Given the description of an element on the screen output the (x, y) to click on. 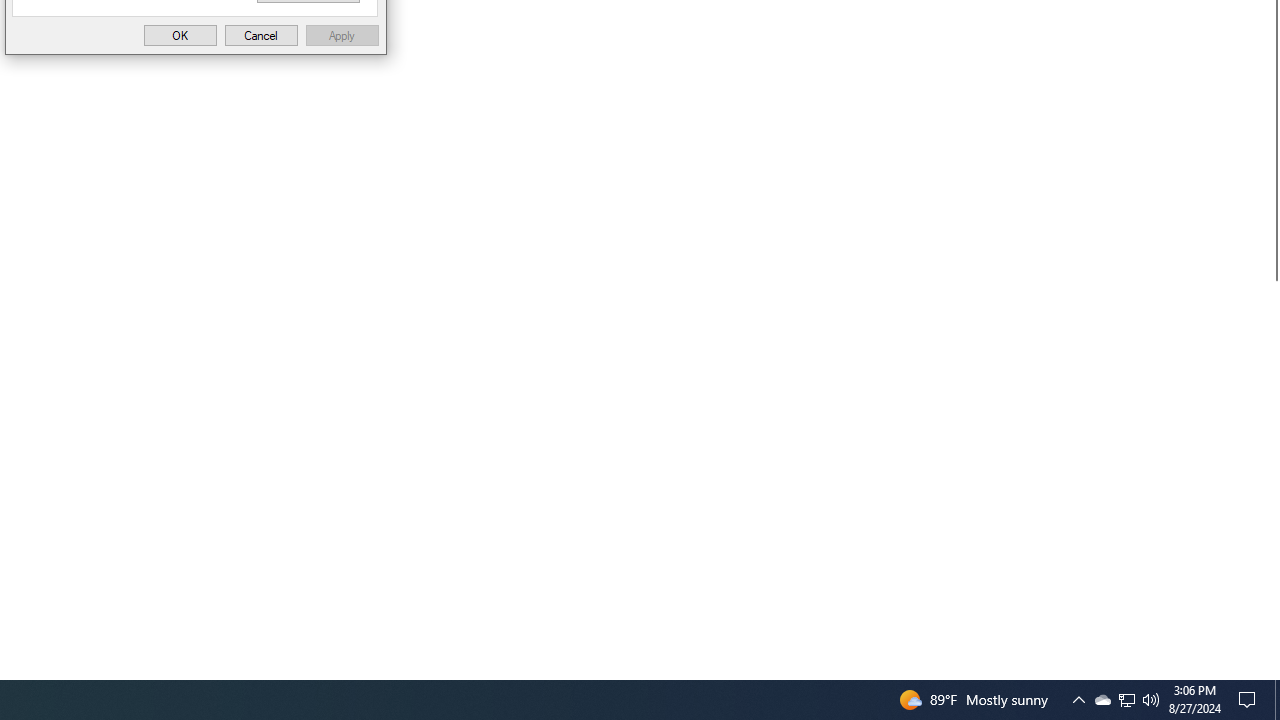
Show desktop (1277, 699)
OK (180, 34)
Apply (342, 34)
Q2790: 100% (1126, 699)
Notification Chevron (1151, 699)
User Promoted Notification Area (1102, 699)
Cancel (1078, 699)
Action Center, No new notifications (1126, 699)
